Given the description of an element on the screen output the (x, y) to click on. 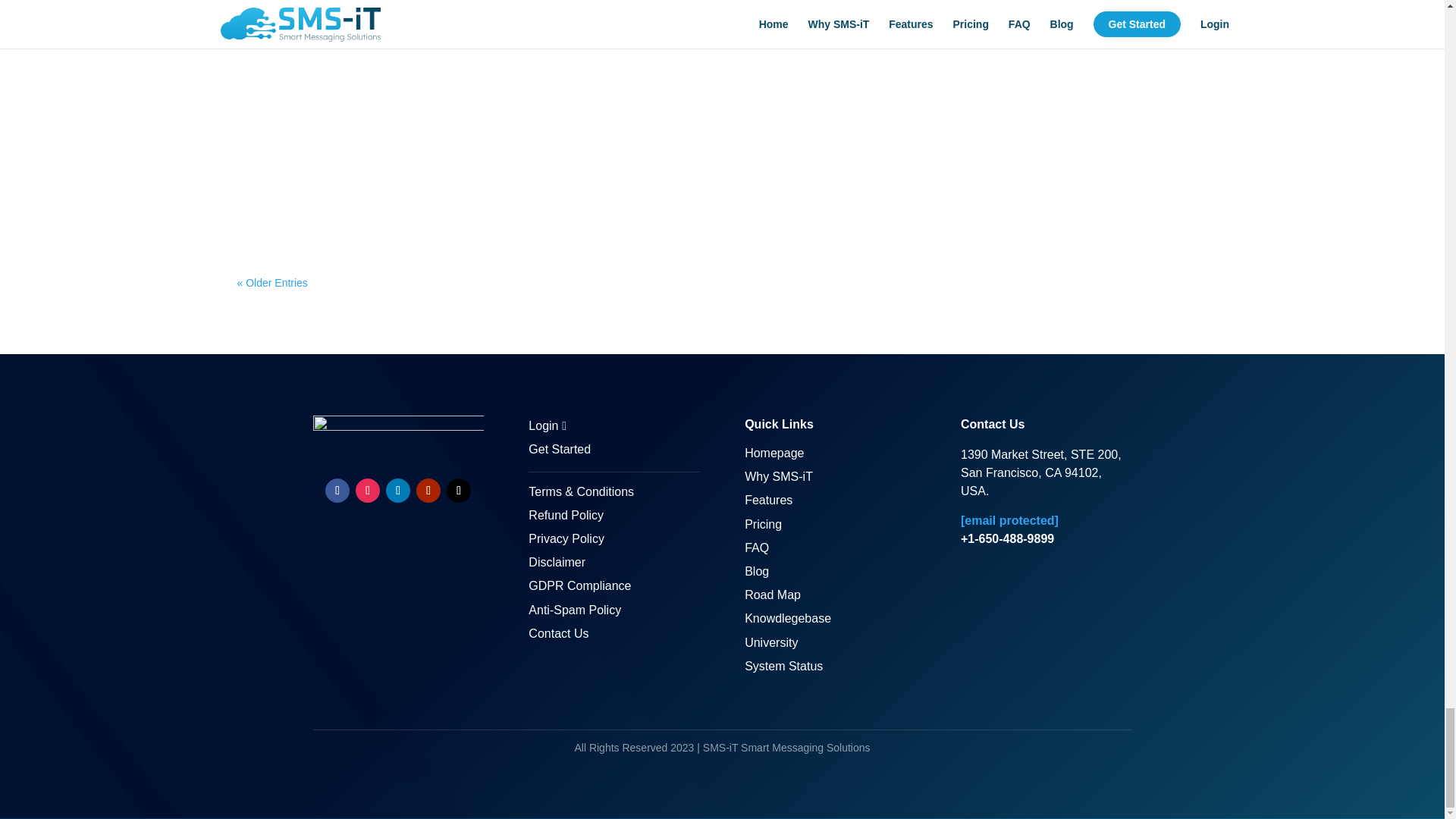
Follow on Facebook (336, 490)
Follow on Instagram (367, 490)
Follow on Youtube (428, 490)
Follow on LinkedIn (397, 490)
logo-sm (398, 435)
